Given the description of an element on the screen output the (x, y) to click on. 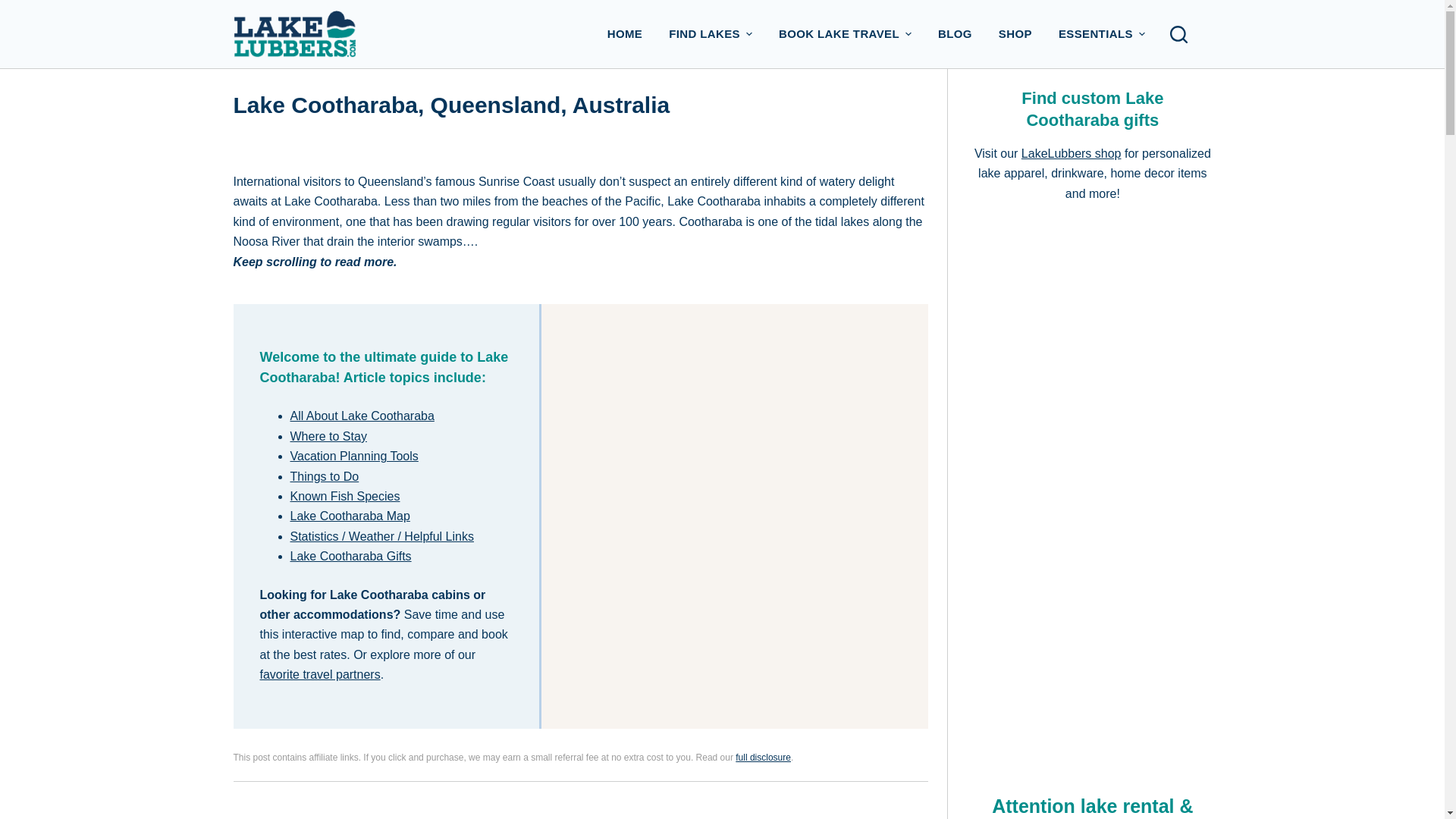
BOOK LAKE TRAVEL (844, 33)
HOME (625, 33)
FIND LAKES (710, 33)
Skip to content (15, 7)
